Given the description of an element on the screen output the (x, y) to click on. 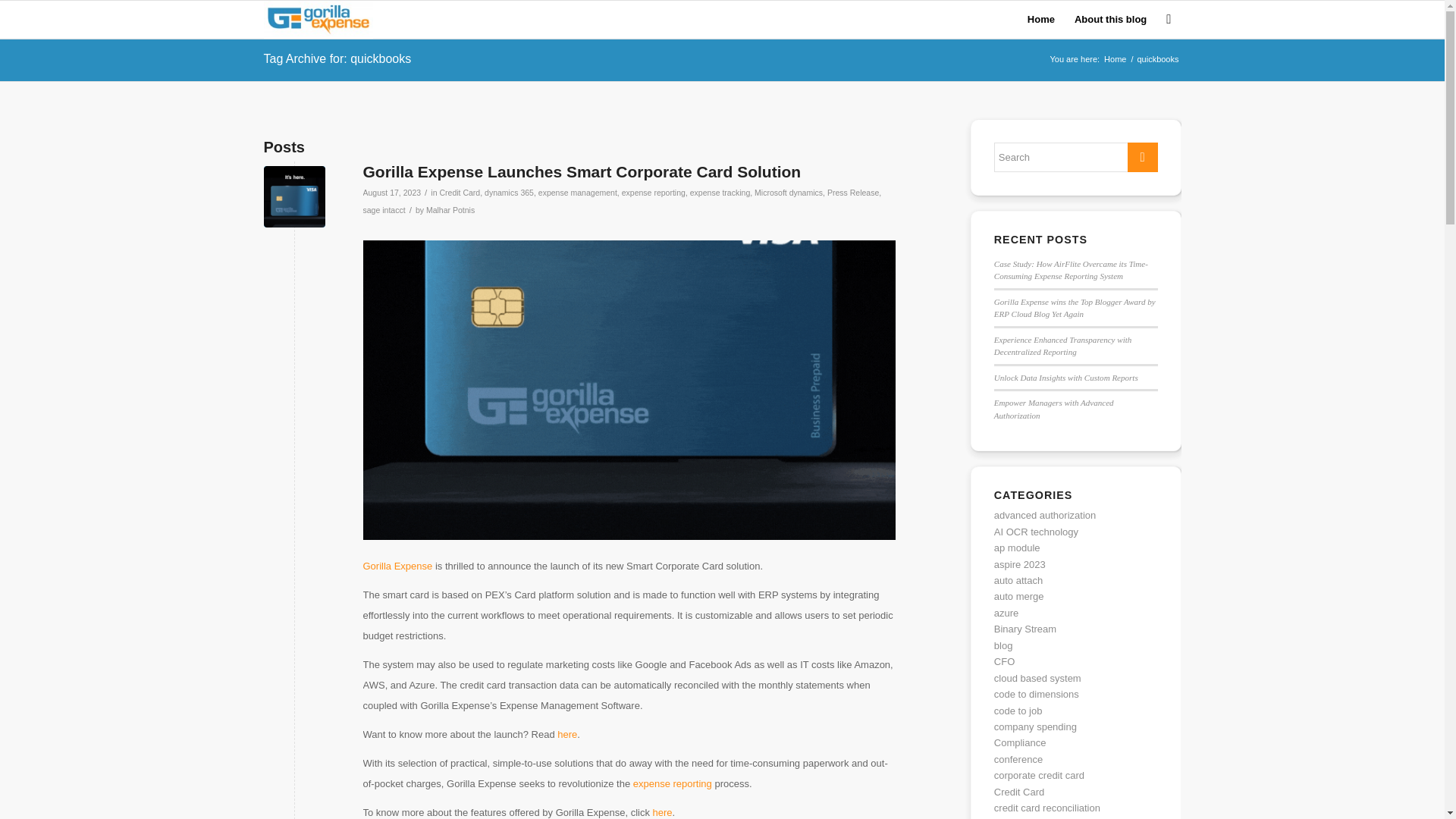
Unlock Data Insights with Custom Reports (1066, 377)
Empower Managers with Advanced Authorization (1053, 409)
expense tracking (720, 192)
Home (1115, 59)
Malhar Potnis (450, 209)
Posts by Malhar Potnis (450, 209)
azure (1006, 613)
auto attach (1018, 580)
blog (1003, 645)
Binary Stream (1025, 628)
auto merge (1018, 595)
Gorilla Expense (397, 565)
